Given the description of an element on the screen output the (x, y) to click on. 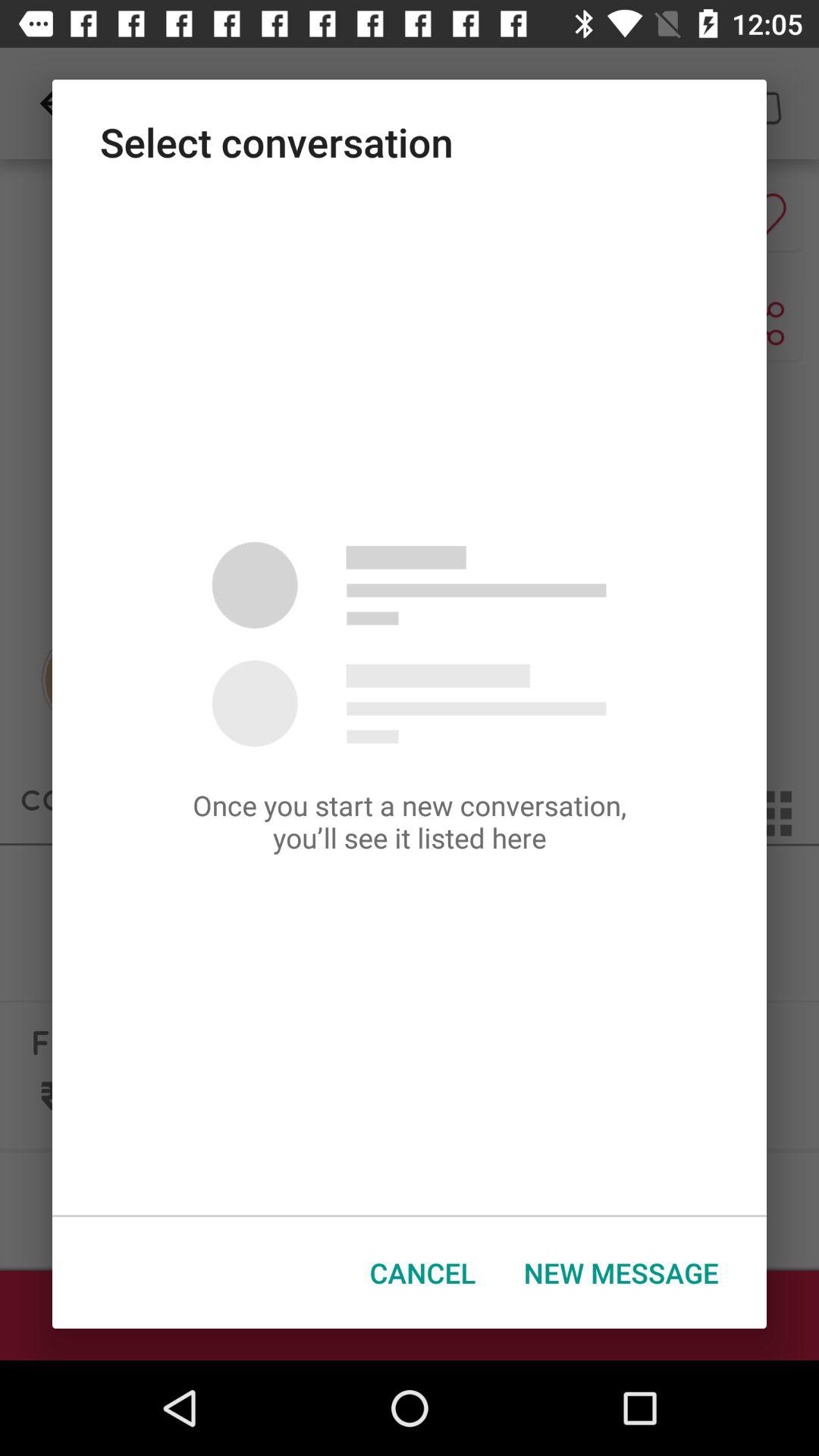
click the button to the right of the cancel (620, 1272)
